Given the description of an element on the screen output the (x, y) to click on. 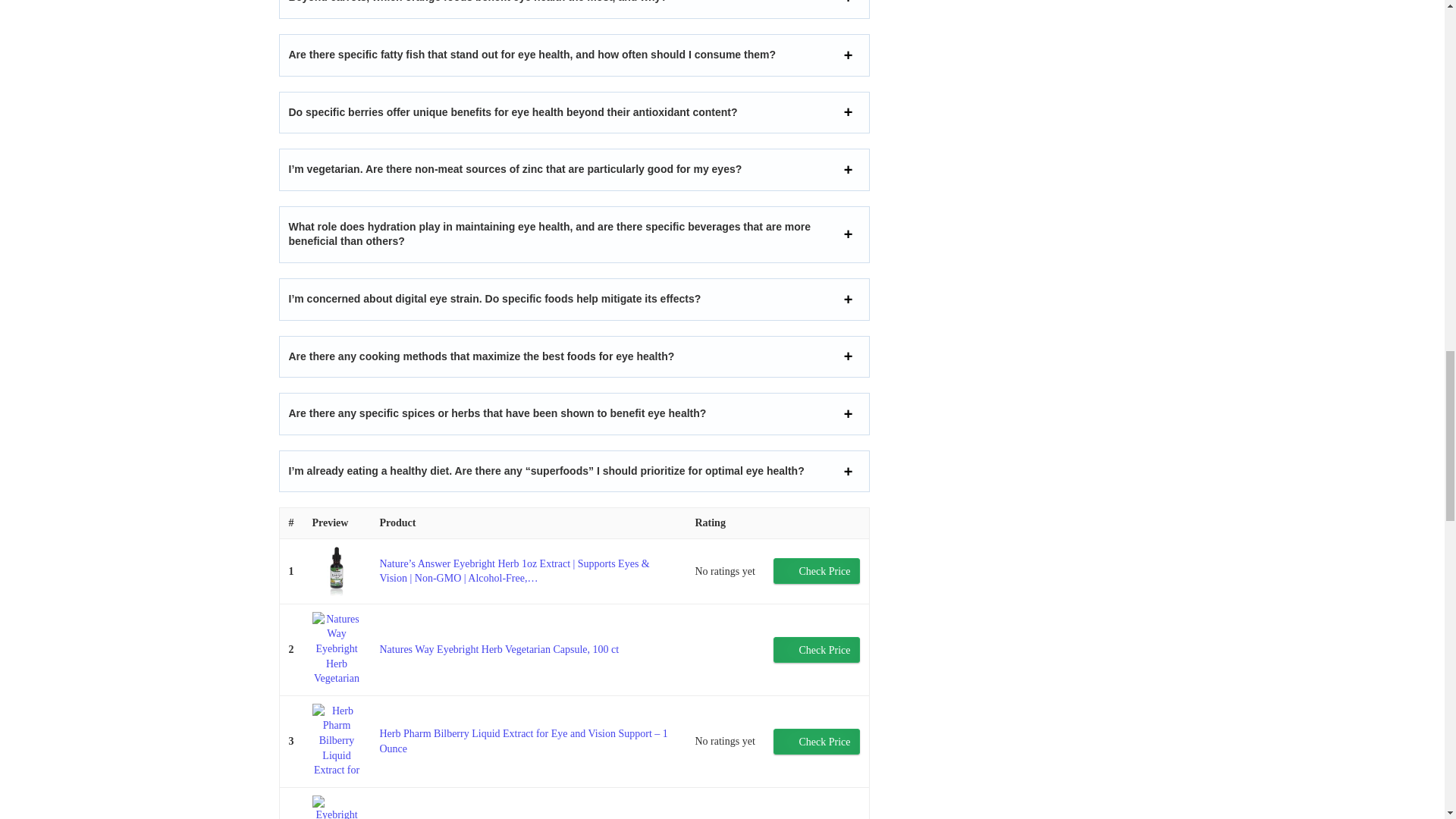
Check Price (816, 570)
Check Price (816, 649)
Check Price (816, 649)
Check Price (816, 741)
Natures Way Eyebright Herb Vegetarian Capsule, 100 ct (498, 649)
Reviews on Amazon (724, 650)
Natures Way Eyebright Herb Vegetarian Capsule, 100 ct (498, 649)
Check Price (816, 570)
Check Price (816, 741)
